Given the description of an element on the screen output the (x, y) to click on. 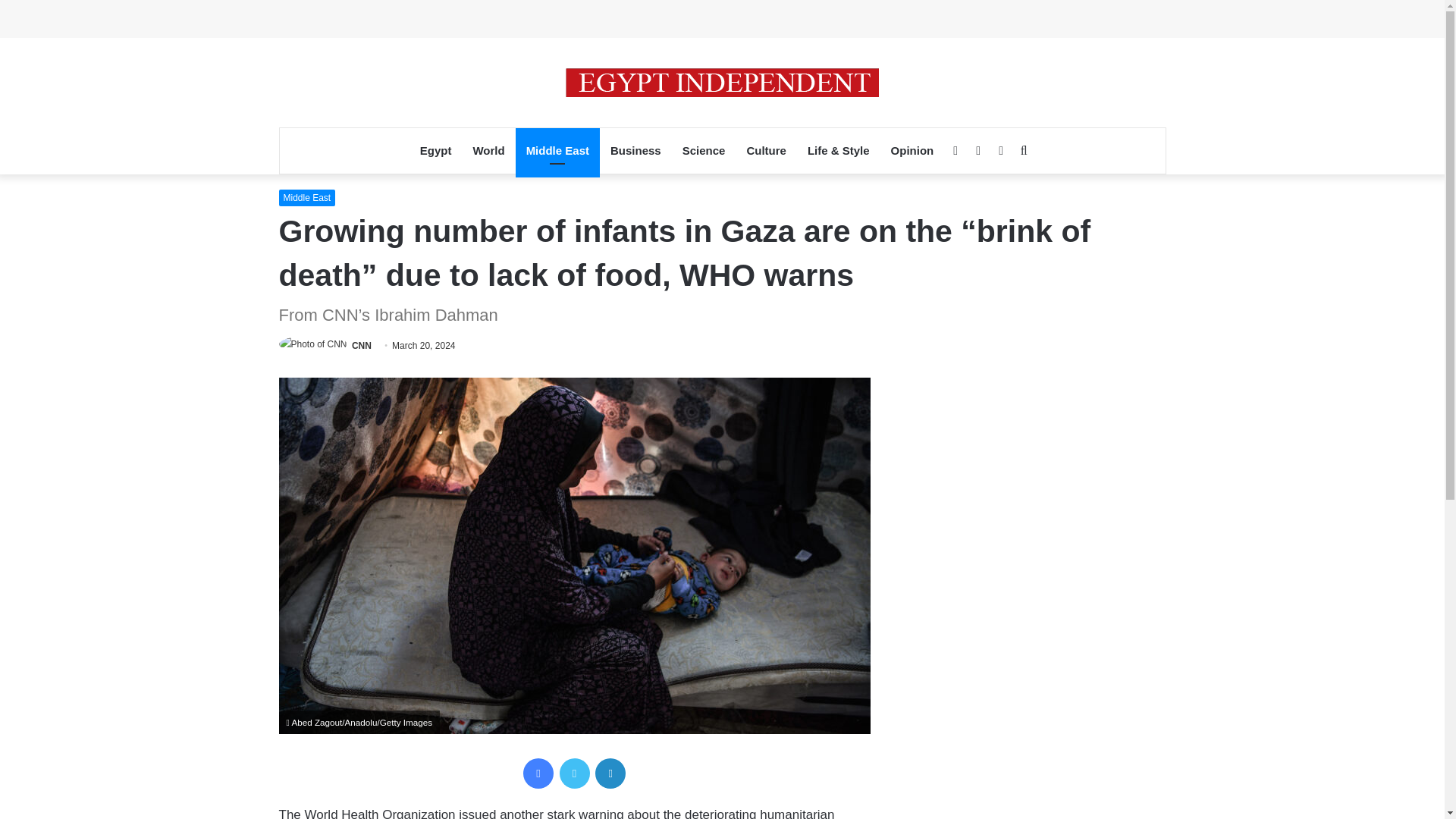
Egypt Independent (722, 82)
World (488, 150)
Facebook (537, 773)
Culture (765, 150)
Twitter (574, 773)
LinkedIn (610, 773)
CNN (361, 345)
Middle East (307, 197)
Facebook (537, 773)
Middle East (557, 150)
